Given the description of an element on the screen output the (x, y) to click on. 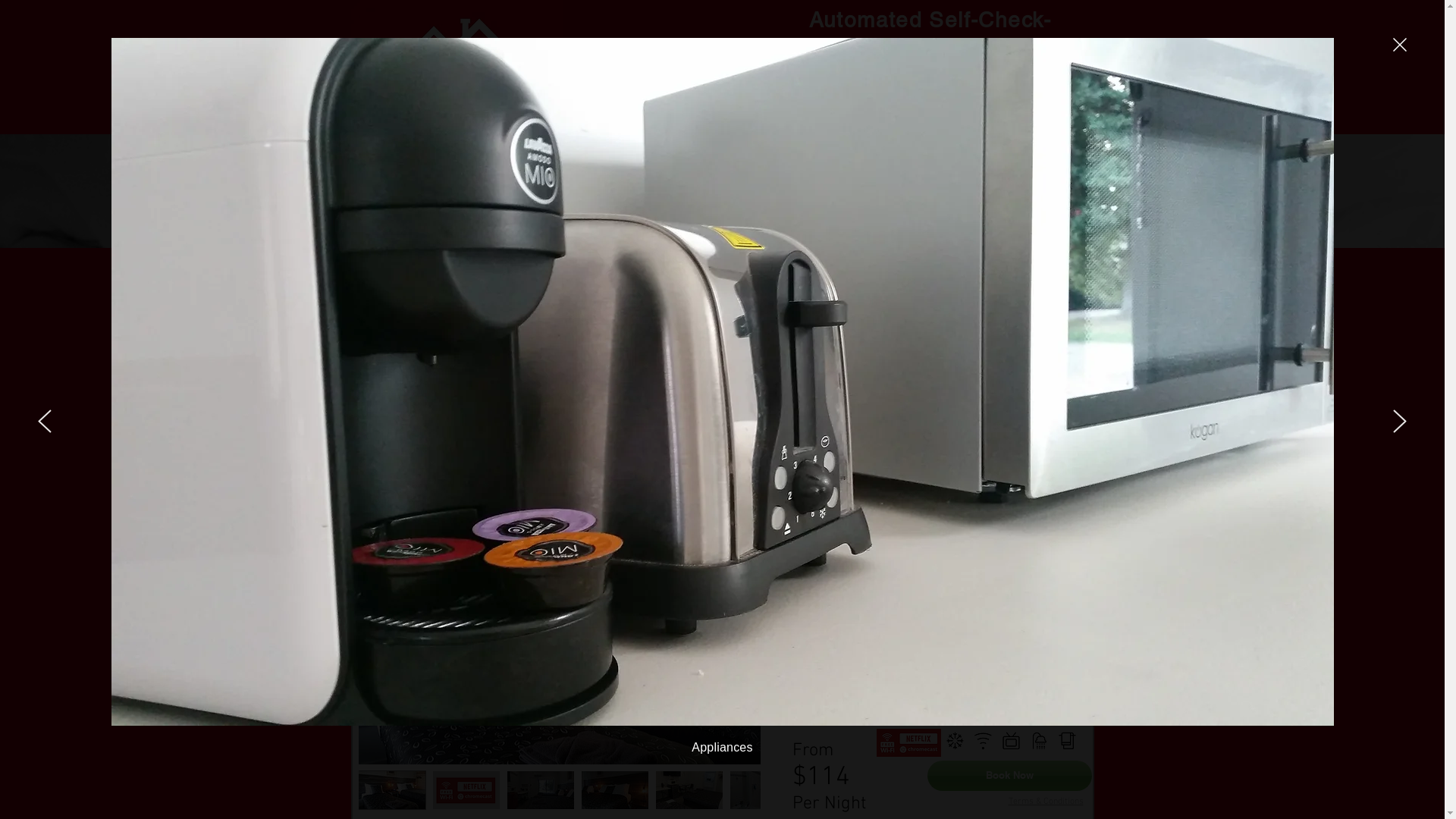
Book Now Element type: text (996, 500)
OUR ROOMS Element type: text (715, 369)
Terms & Conditions Element type: text (1039, 526)
Book Now Element type: text (1008, 774)
Terms & Conditions Element type: text (1045, 801)
OUR ROOMS Element type: text (721, 218)
